Given the description of an element on the screen output the (x, y) to click on. 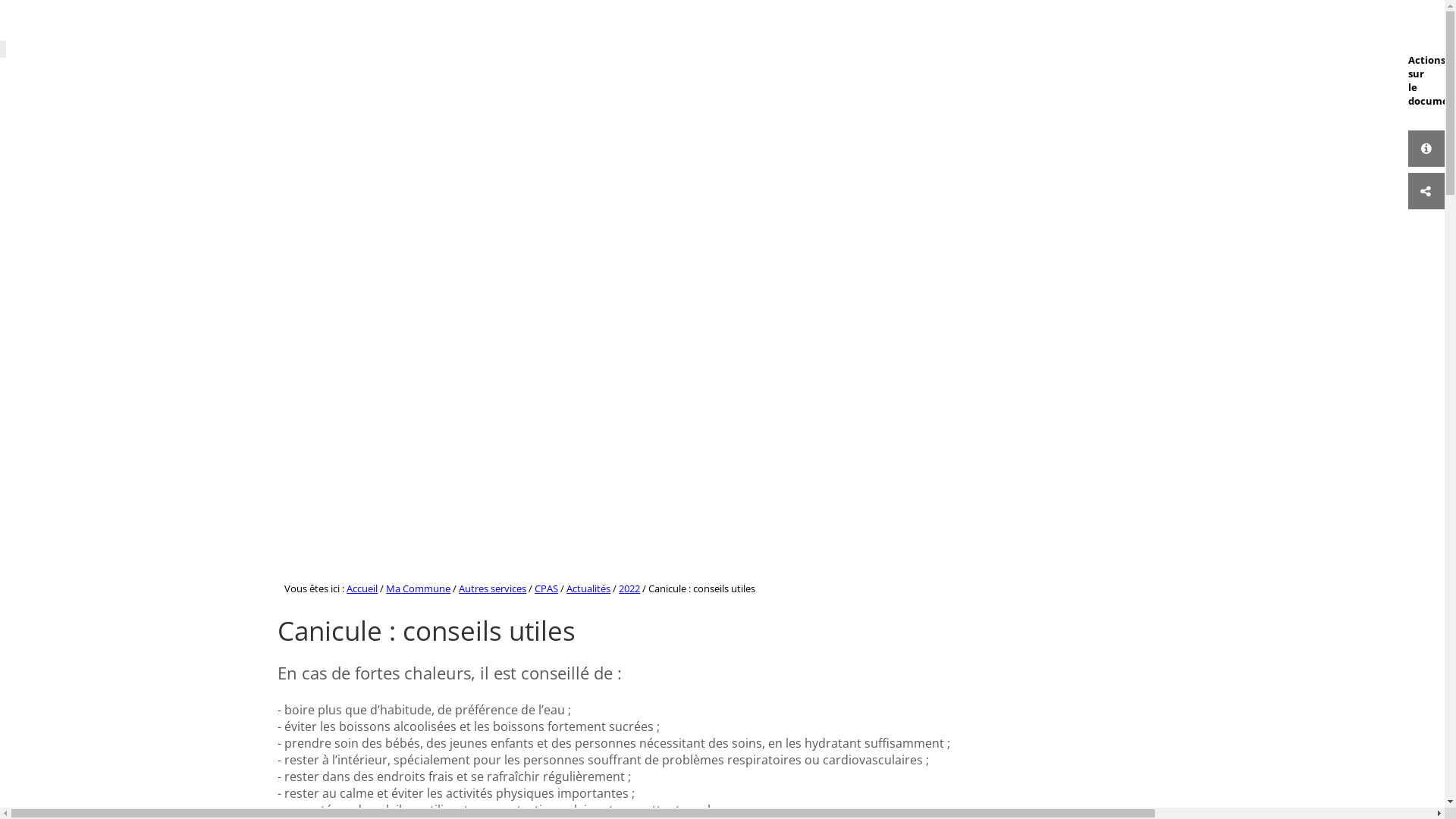
CPAS Element type: text (546, 588)
2022 Element type: text (629, 588)
Autres services Element type: text (492, 588)
Accueil Element type: text (361, 588)
Ma Commune Element type: text (417, 588)
